Given the description of an element on the screen output the (x, y) to click on. 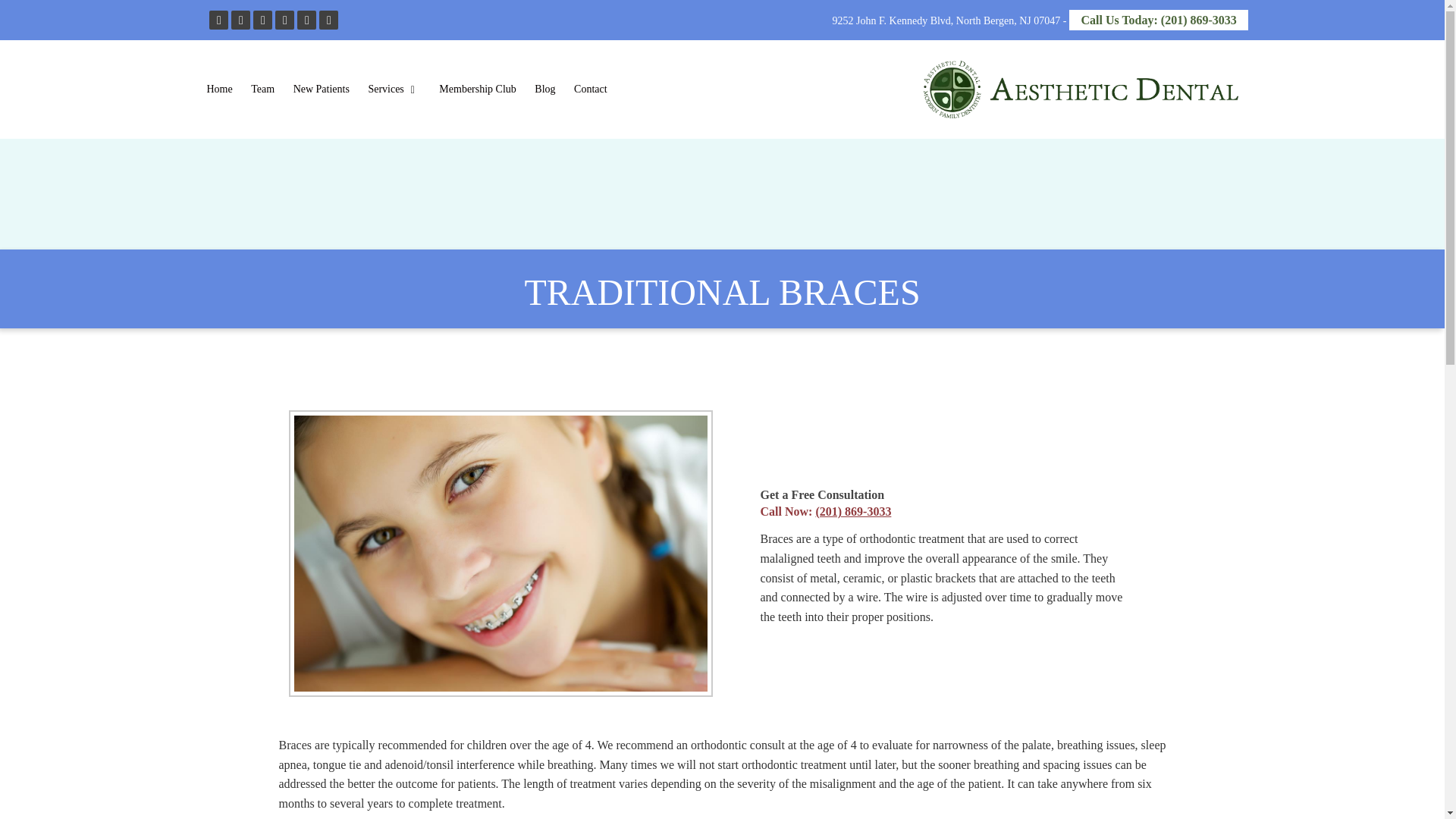
Services (393, 89)
Contact (590, 89)
Blog (544, 89)
Membership Club (477, 89)
9252 John F. Kennedy Blvd, North Bergen, NJ 07047 (946, 20)
Home (219, 89)
Team (262, 89)
New Patients (320, 89)
